Given the description of an element on the screen output the (x, y) to click on. 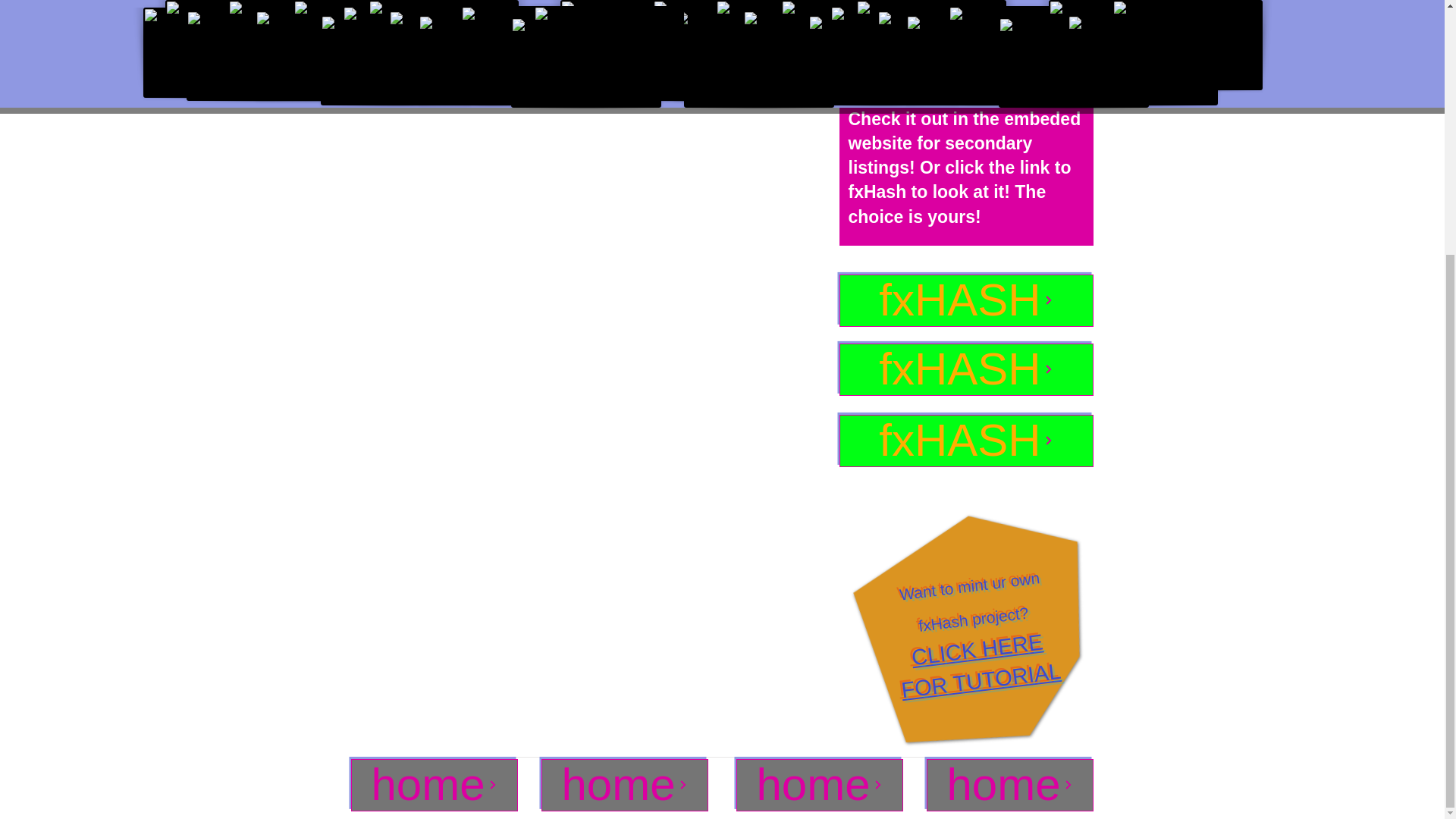
home (433, 785)
home (818, 785)
fxHASH (965, 440)
fxHASH (979, 656)
fxHASH (965, 300)
home (965, 369)
home (1009, 785)
